Given the description of an element on the screen output the (x, y) to click on. 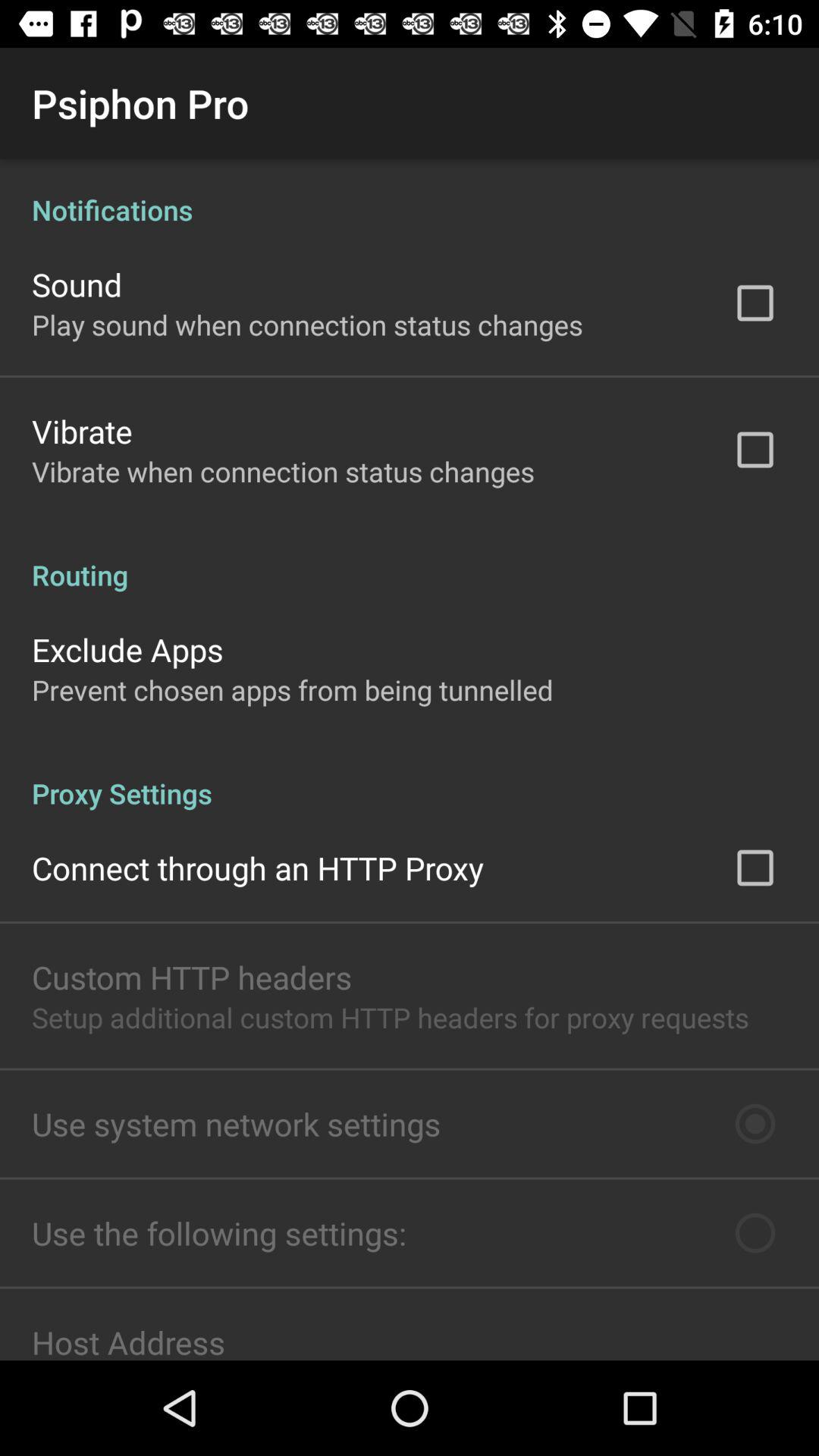
turn on the item below the vibrate when connection app (409, 558)
